Given the description of an element on the screen output the (x, y) to click on. 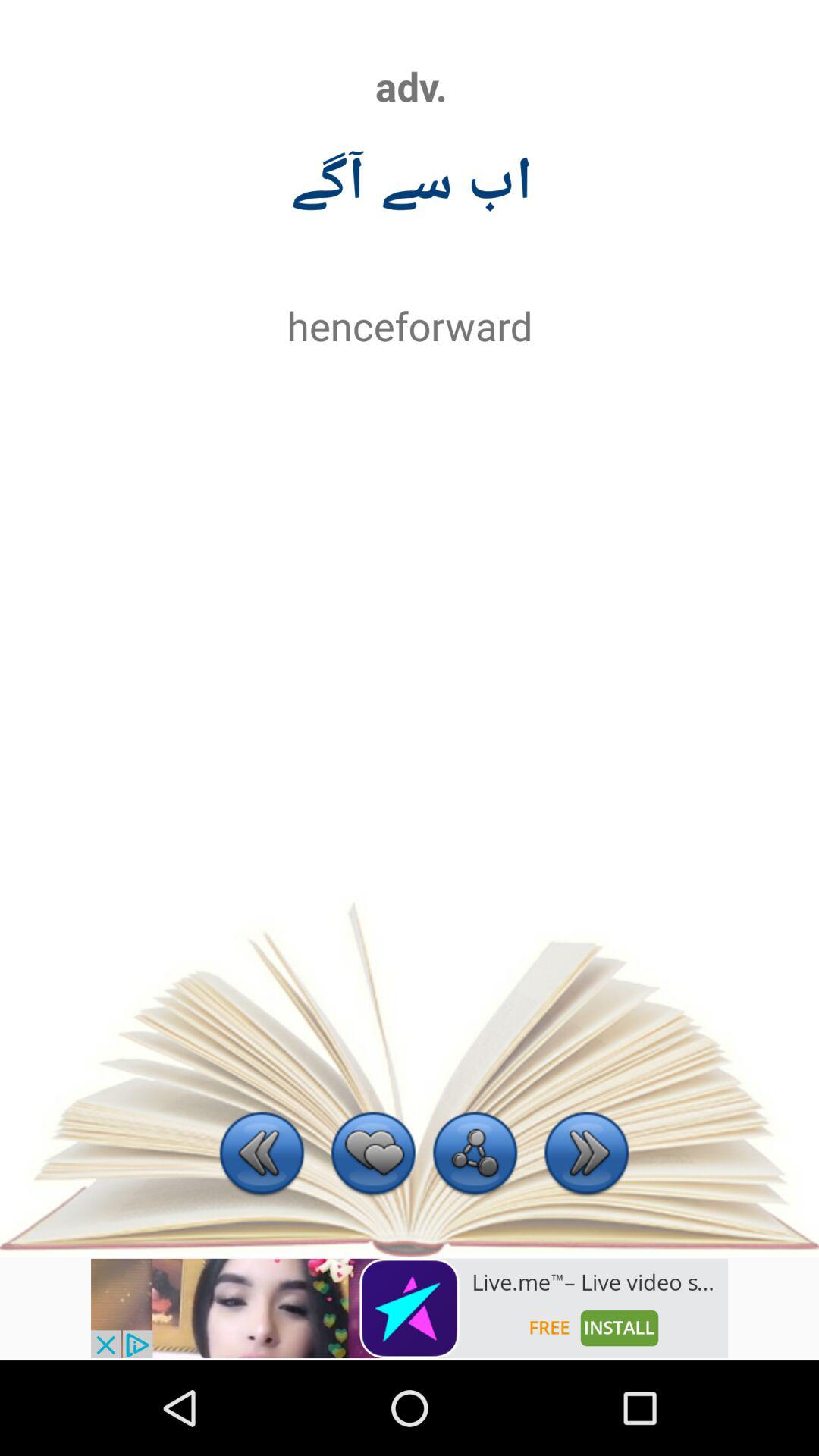
go to next entry (586, 1155)
